Given the description of an element on the screen output the (x, y) to click on. 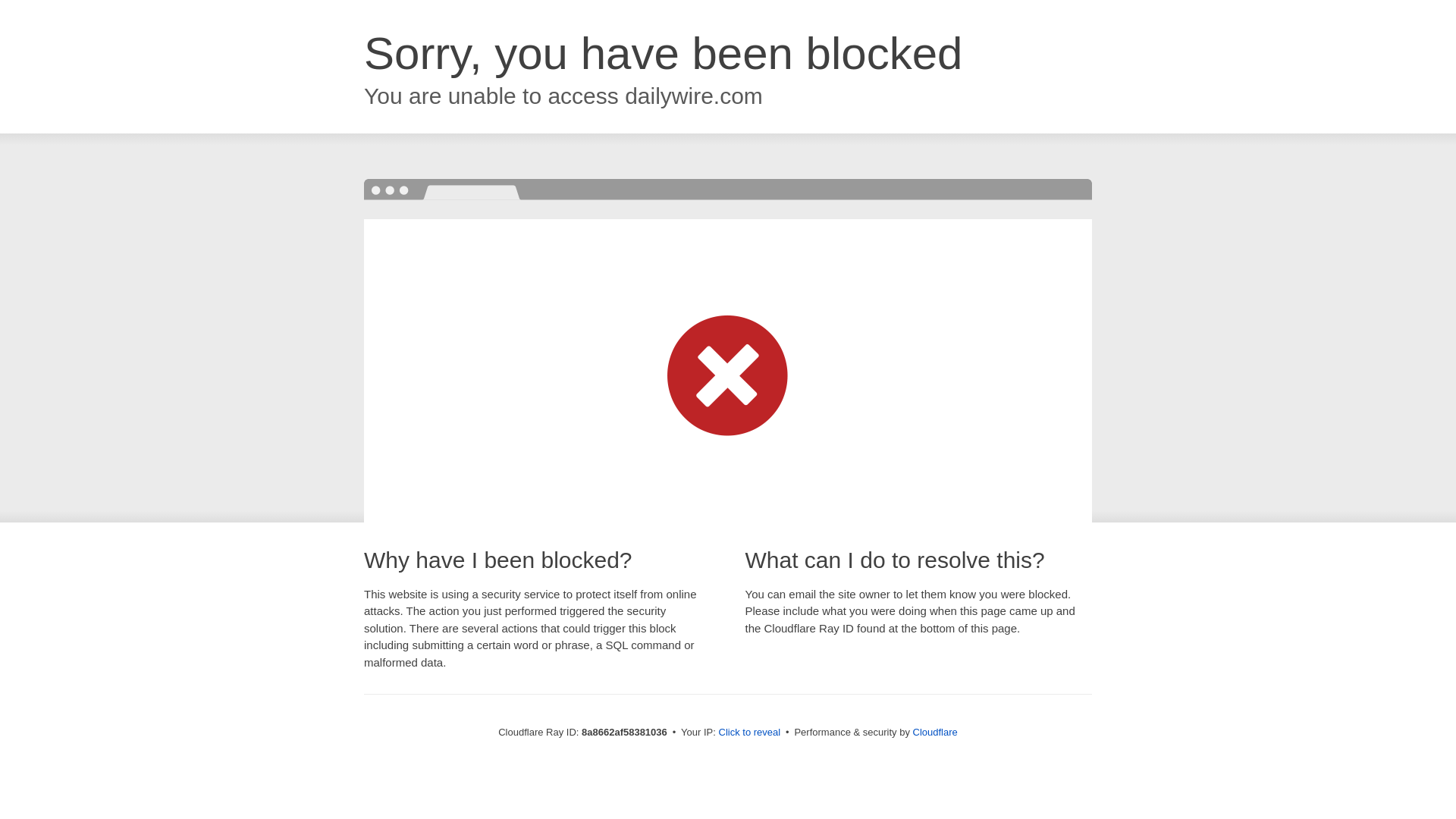
Cloudflare (935, 731)
Click to reveal (749, 732)
